Given the description of an element on the screen output the (x, y) to click on. 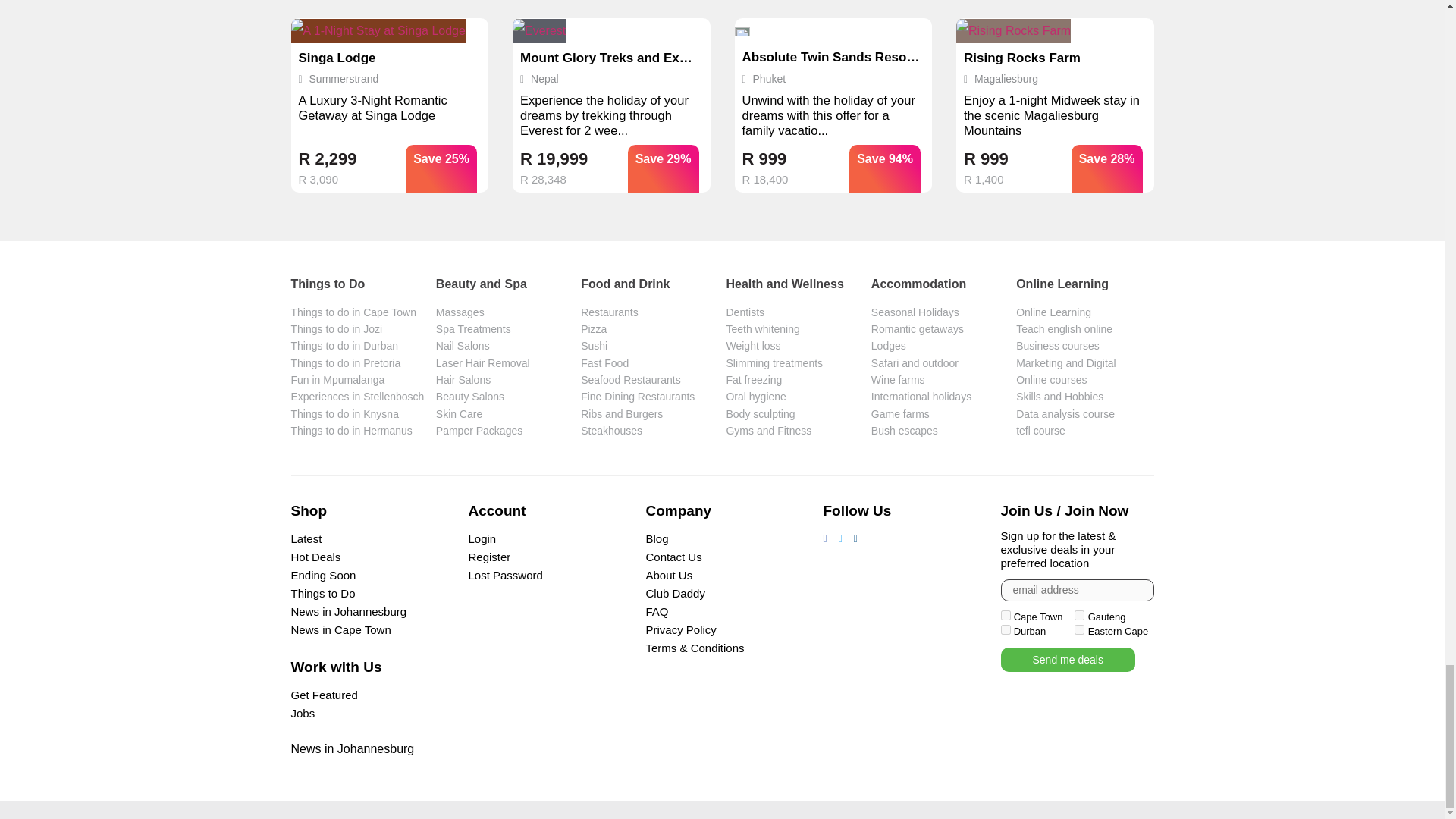
News in Johannesburg (349, 611)
35649 (1079, 629)
35456 (1079, 614)
35427 (1005, 629)
News in Jhb (352, 748)
35425 (1005, 614)
